Given the description of an element on the screen output the (x, y) to click on. 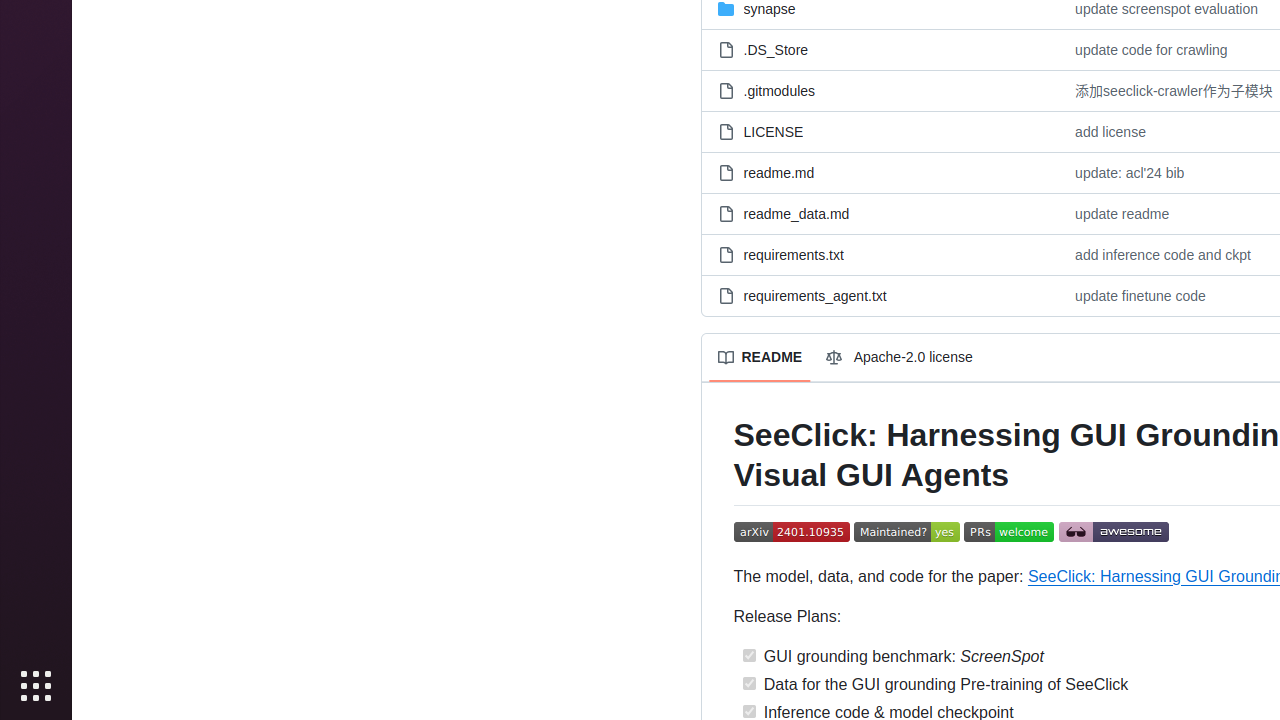
requirements.txt, (File) Element type: table-cell (880, 254)
readme_data.md, (File) Element type: link (796, 213)
synapse, (Directory) Element type: link (769, 8)
Apache-2.0 license Element type: link (901, 358)
.DS_Store, (File) Element type: link (776, 49)
